Given the description of an element on the screen output the (x, y) to click on. 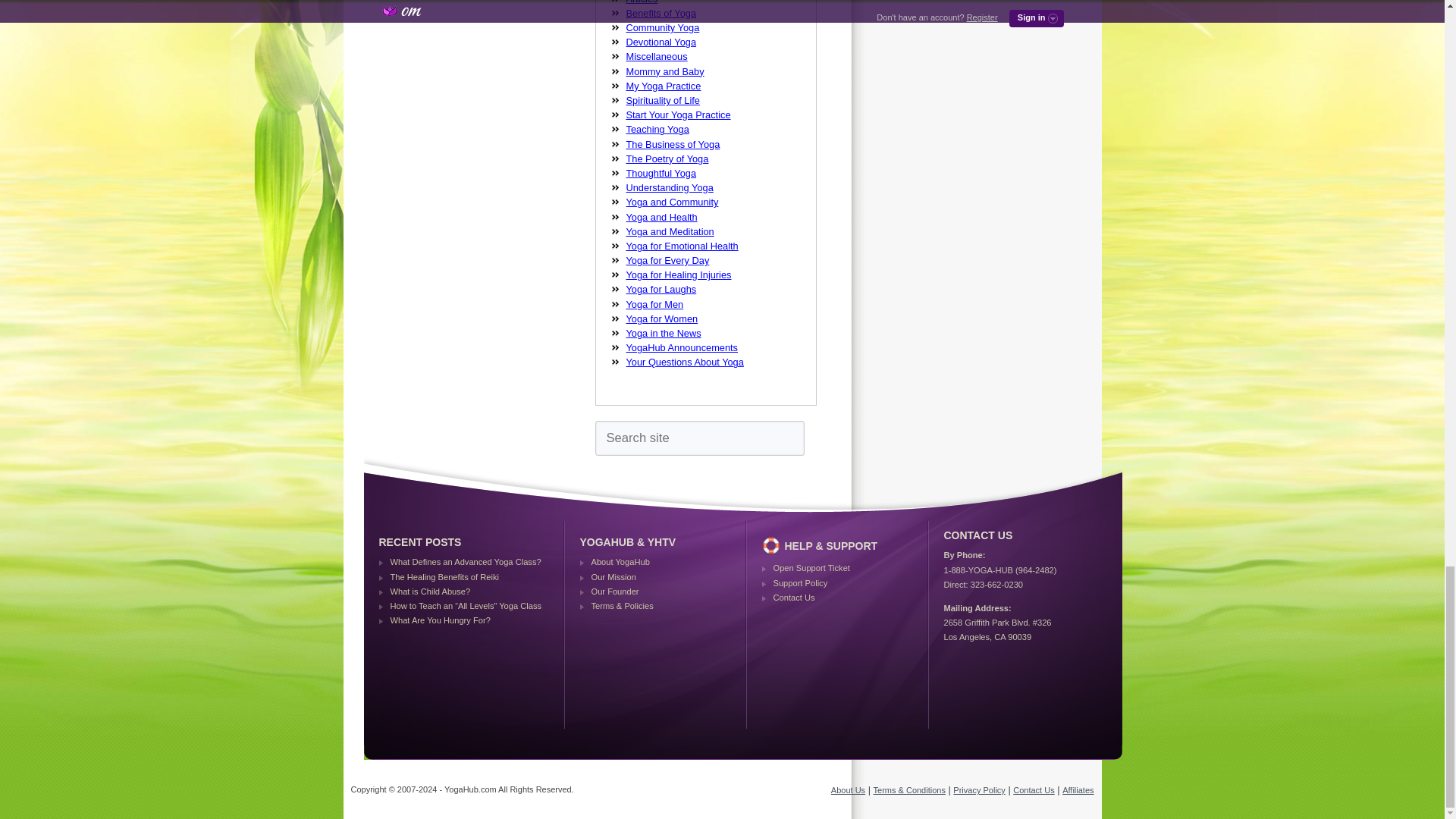
About Us (847, 789)
Privacy Policy (978, 789)
Contact Us (1033, 789)
